Given the description of an element on the screen output the (x, y) to click on. 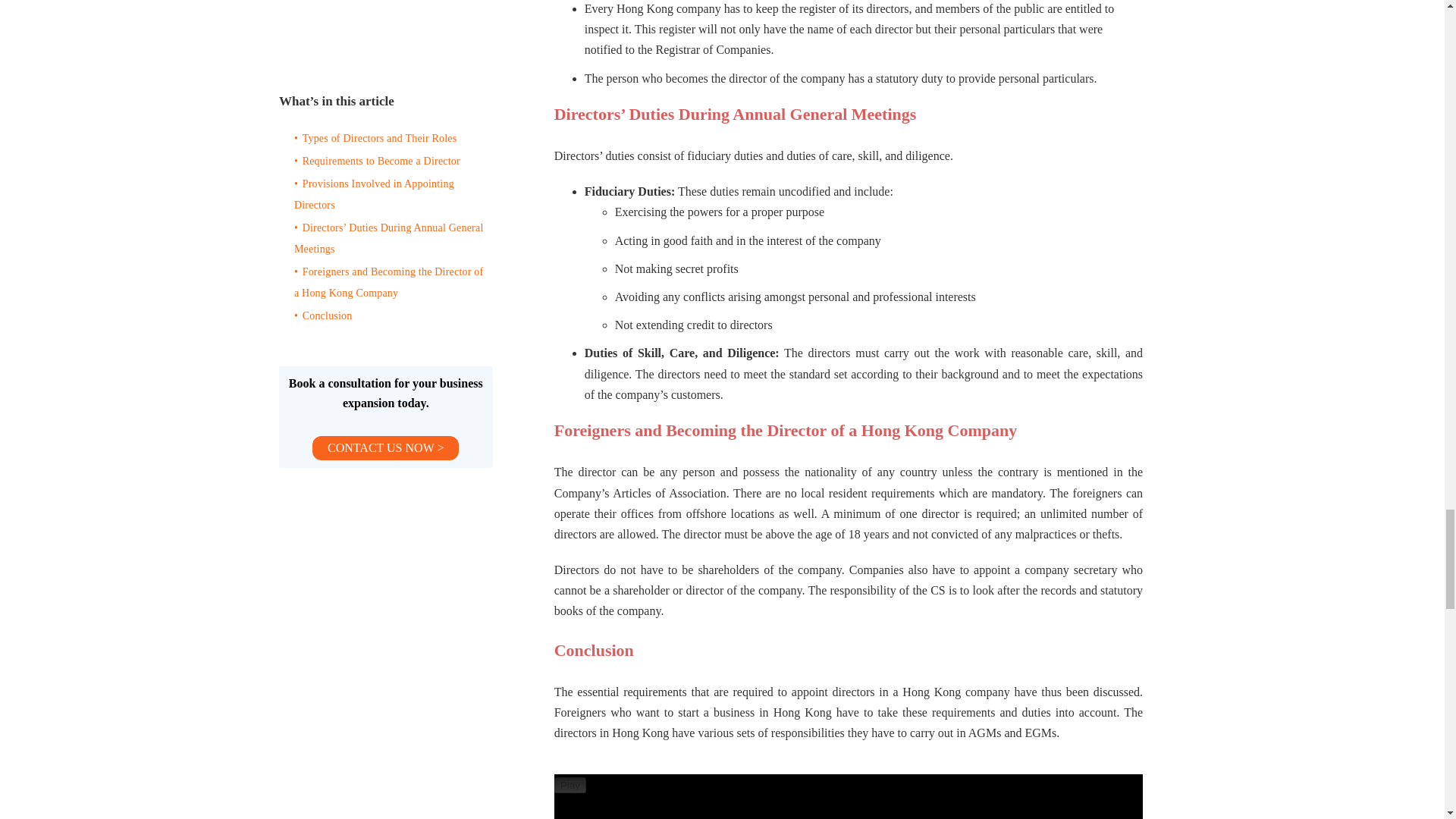
YouTube video player 1 (848, 796)
